Given the description of an element on the screen output the (x, y) to click on. 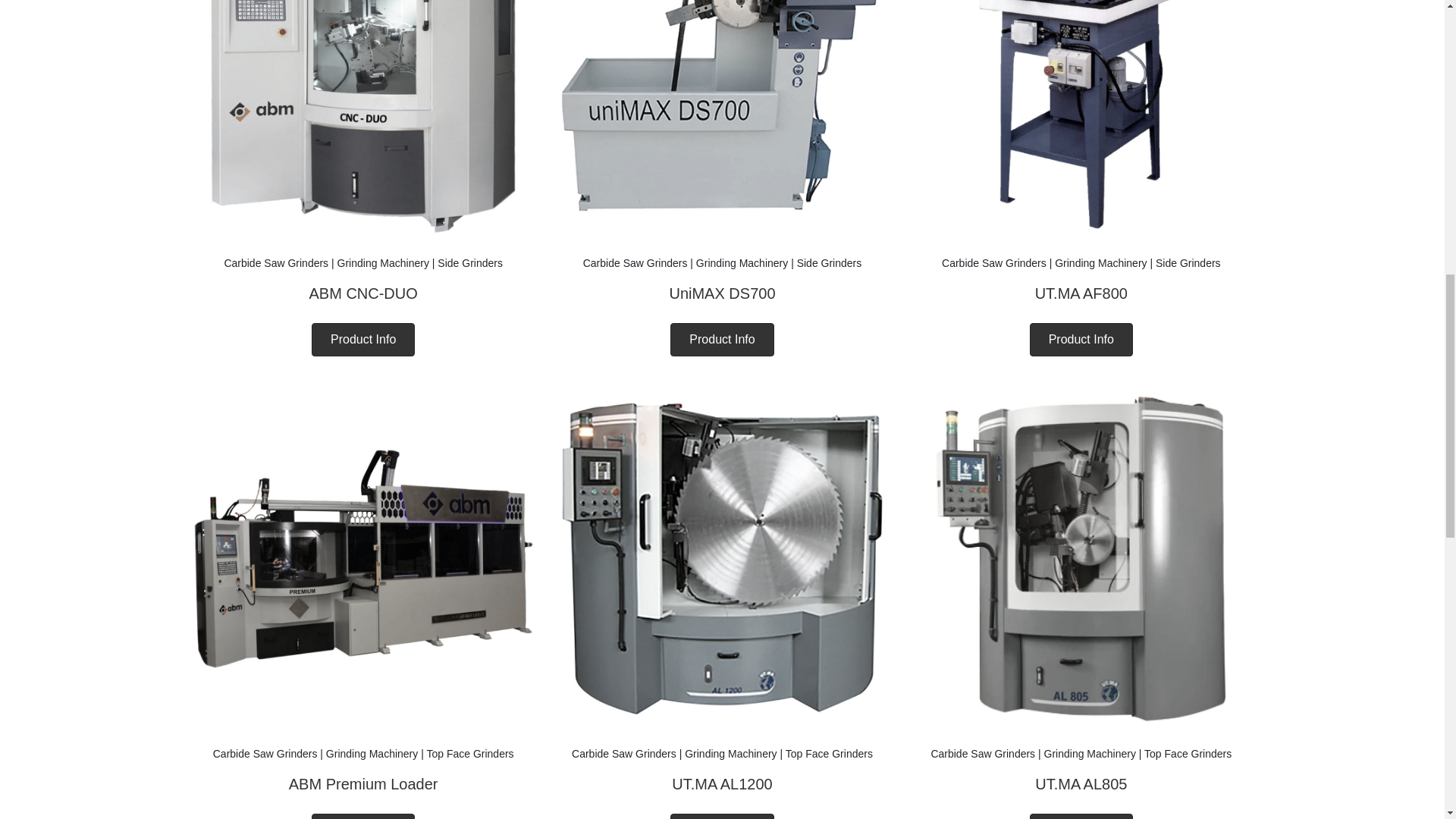
ABM Premium Loader (363, 783)
UniMAX DS700 (721, 293)
ABM Premium Loader (362, 558)
ABM CNC-DUO (362, 68)
UT.MA AF800 (1080, 293)
UT.MA AF800 (1080, 68)
ABM CNC-DUO (362, 293)
UniMAX DS700 (721, 68)
